Given the description of an element on the screen output the (x, y) to click on. 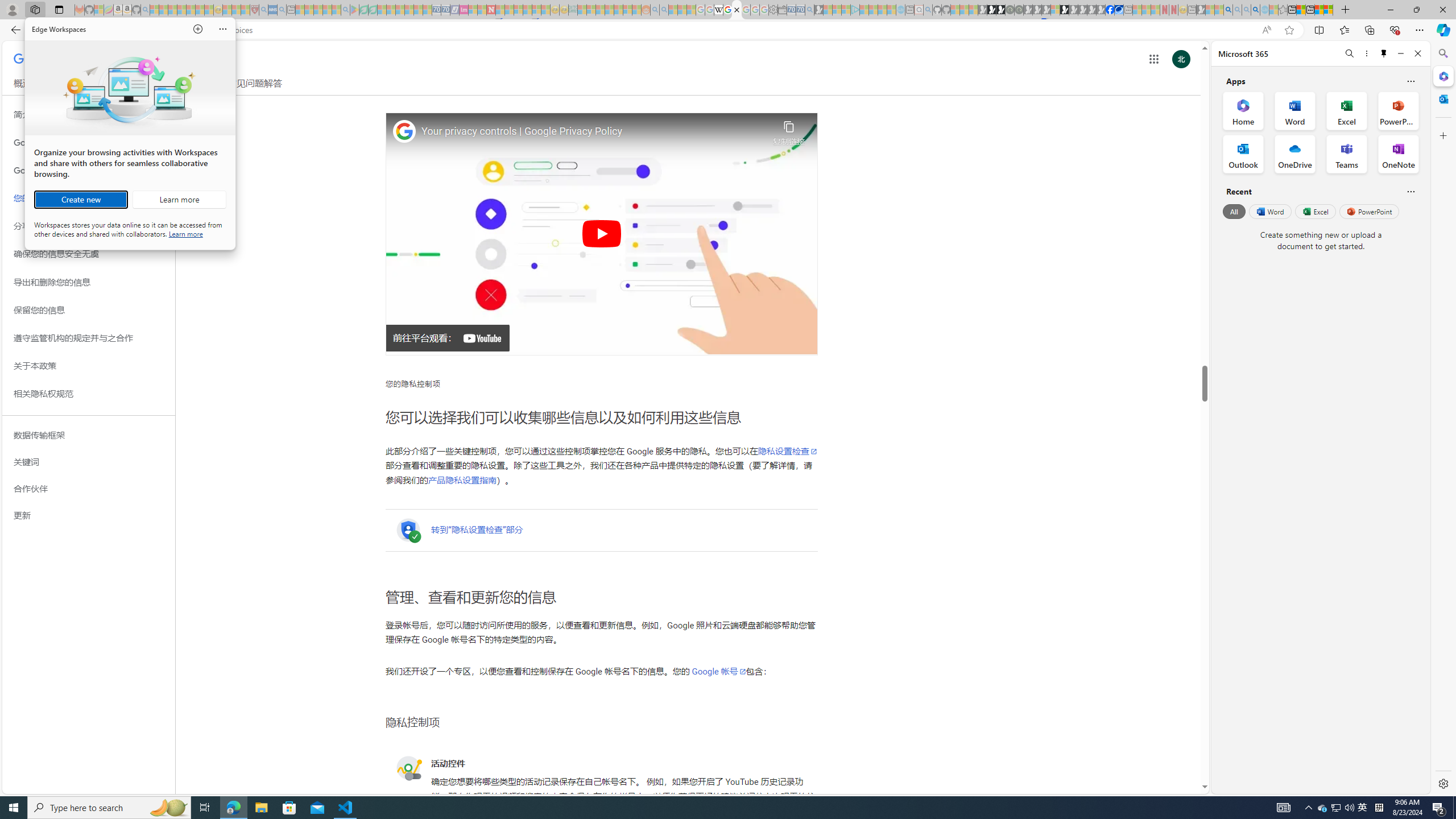
Is this helpful? (1410, 191)
Word Office App (1295, 110)
AirNow.gov (1118, 9)
